Given the description of an element on the screen output the (x, y) to click on. 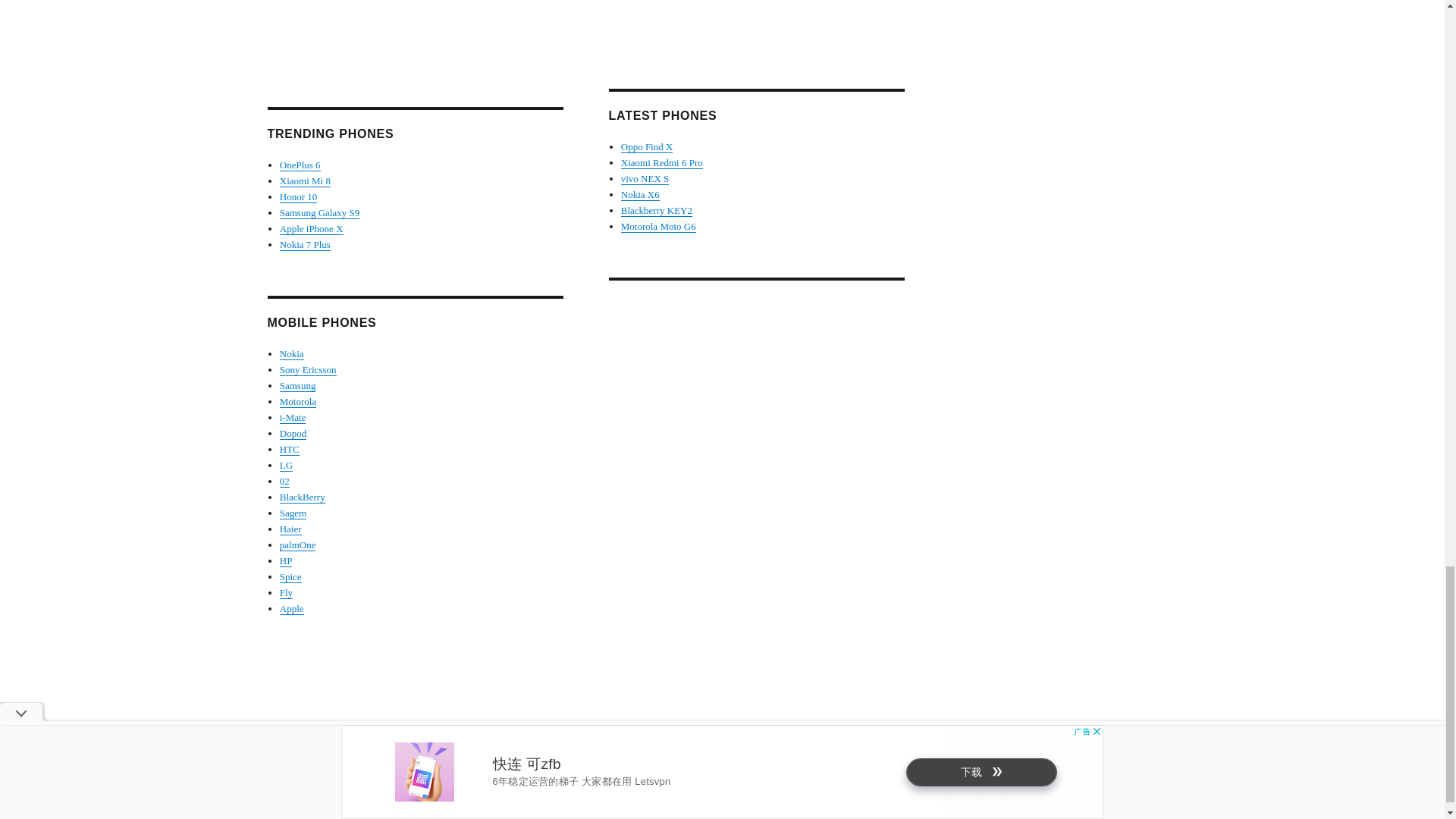
Xiaomi Mi 8 (304, 180)
Honor 10 (298, 196)
Nokia (291, 353)
OnePlus 6 (299, 164)
Samsung Galaxy S9 (319, 212)
Apple iPhone X (311, 228)
Nokia 7 Plus (304, 244)
